Given the description of an element on the screen output the (x, y) to click on. 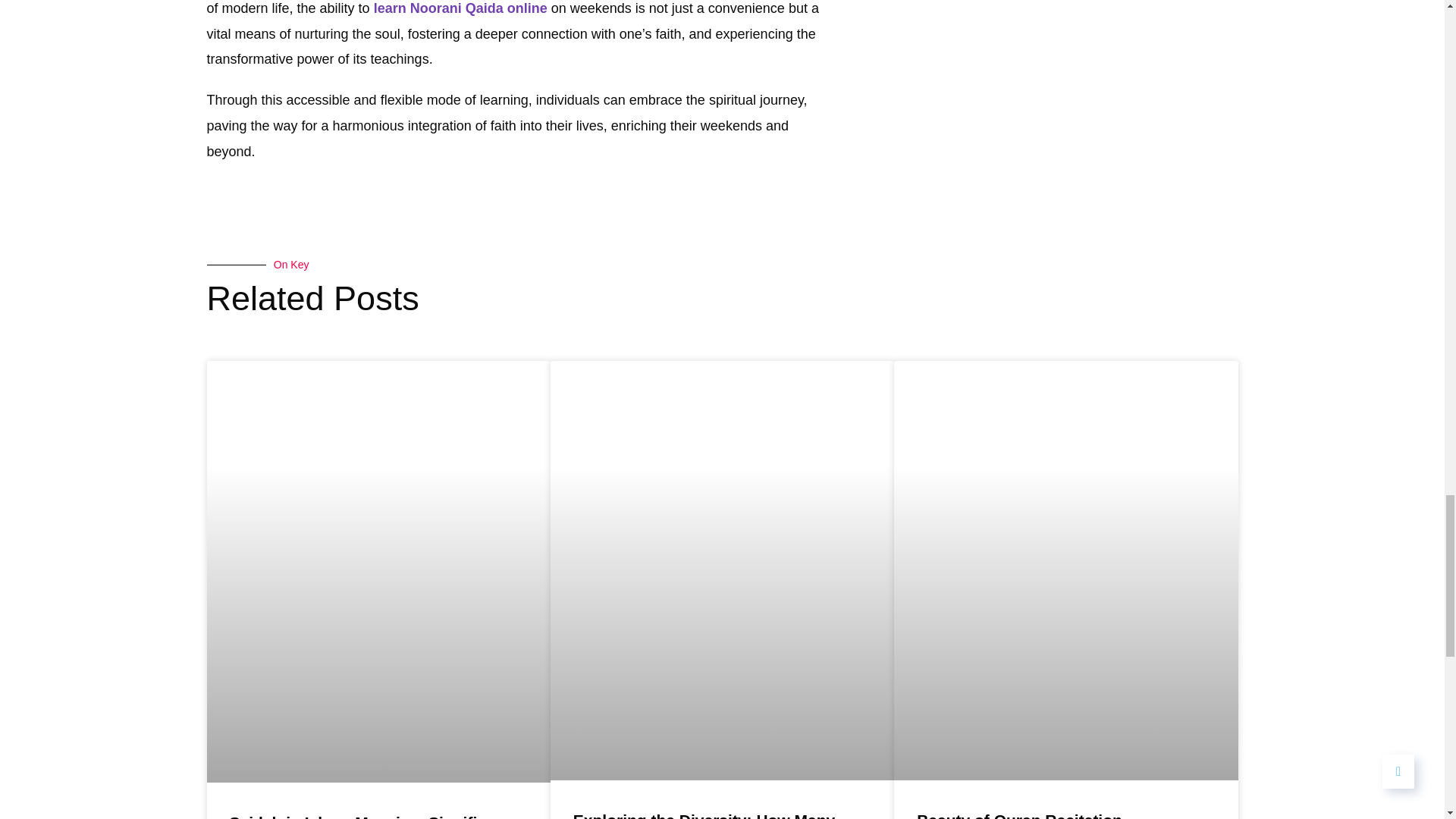
learn Noorani Qaida online (460, 7)
